Given the description of an element on the screen output the (x, y) to click on. 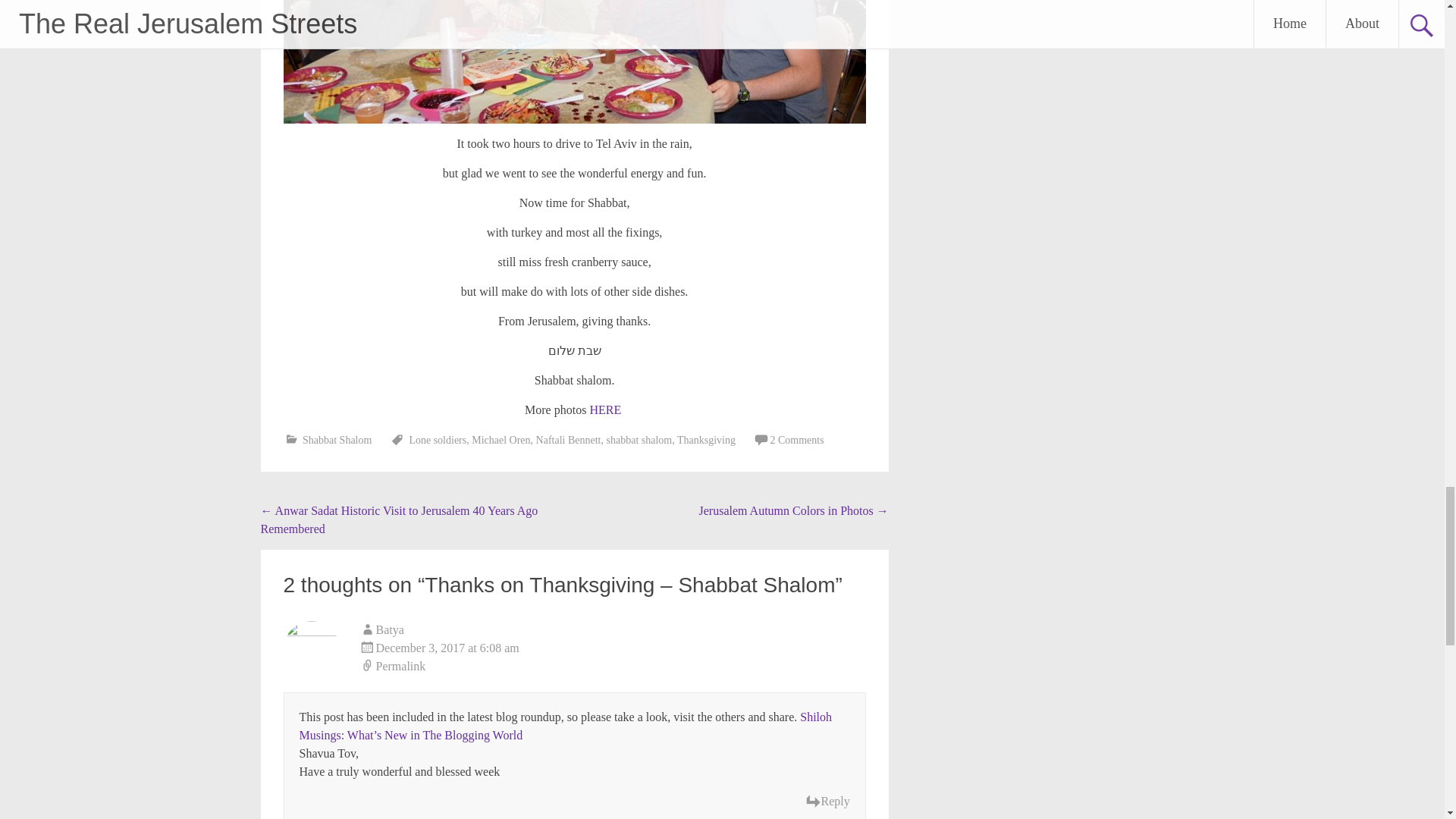
Shabbat Shalom (336, 439)
Thanksgiving (706, 439)
2 Comments (797, 439)
Lone soldiers (437, 439)
Batya (389, 629)
Naftali Bennett (568, 439)
Permalink (612, 666)
shabbat shalom (639, 439)
Michael Oren (500, 439)
HERE  (605, 409)
